Given the description of an element on the screen output the (x, y) to click on. 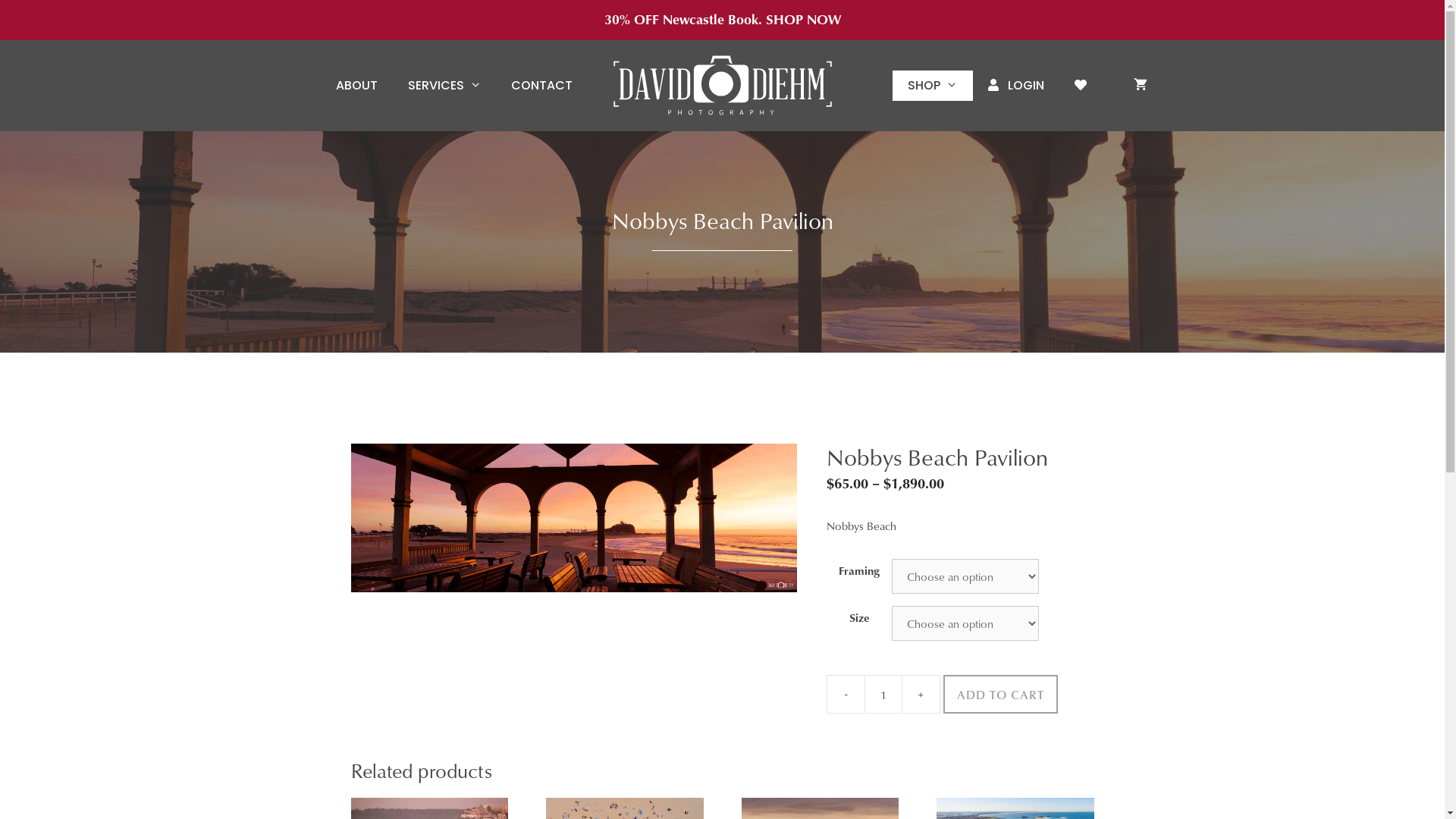
SERVICES Element type: text (444, 85)
View your shopping cart Element type: hover (1139, 85)
  LOGIN Element type: text (1015, 85)
+ Element type: text (921, 693)
810_1940 copywebload Element type: hover (573, 517)
ADD TO CART Element type: text (1000, 693)
ABOUT Element type: text (356, 85)
SHOP Element type: text (932, 85)
CONTACT Element type: text (541, 85)
- Element type: text (845, 693)
